Given the description of an element on the screen output the (x, y) to click on. 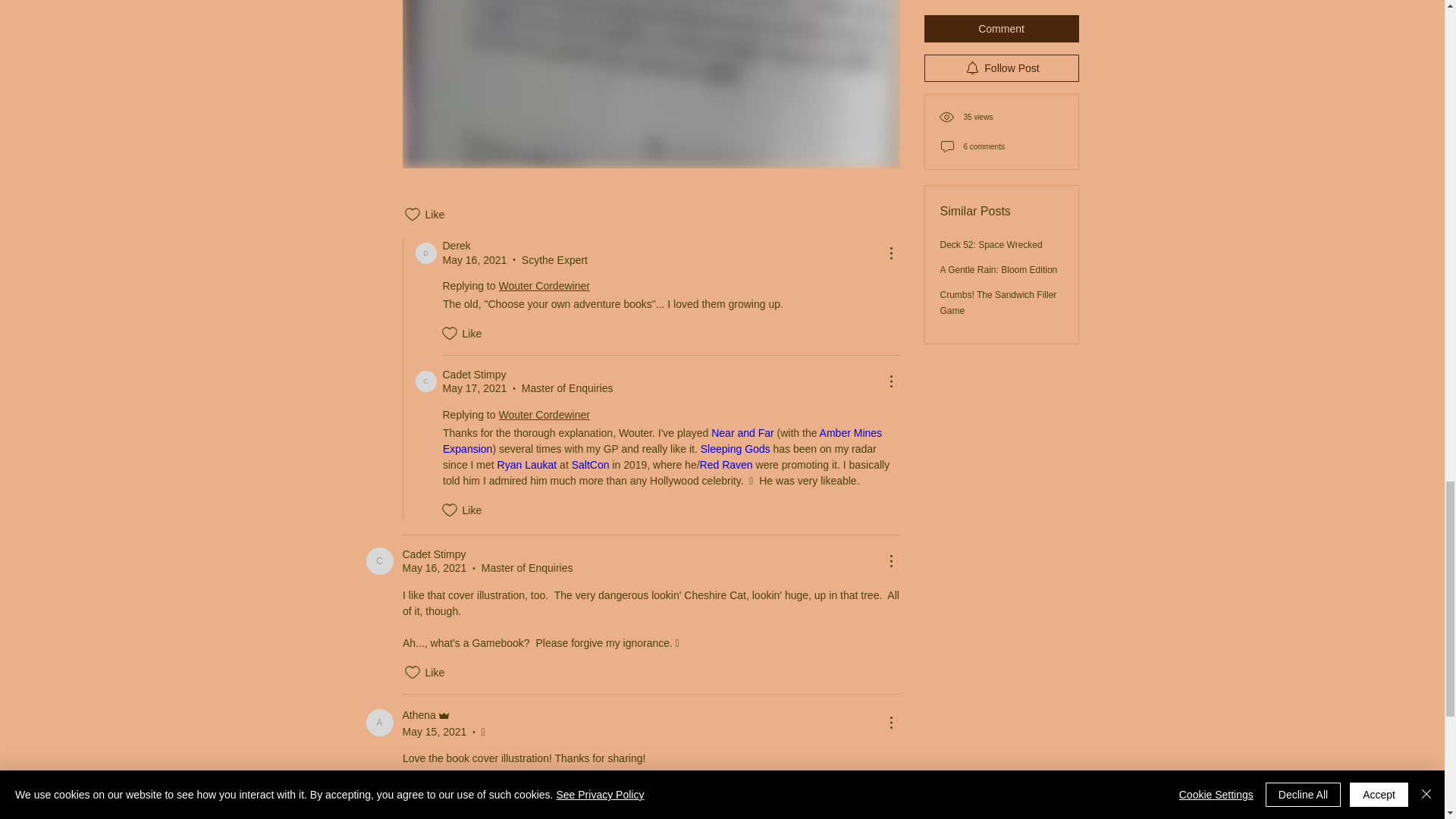
Athena (379, 722)
Derek  (425, 252)
Cadet Stimpy (379, 560)
Cadet Stimpy (425, 381)
